Given the description of an element on the screen output the (x, y) to click on. 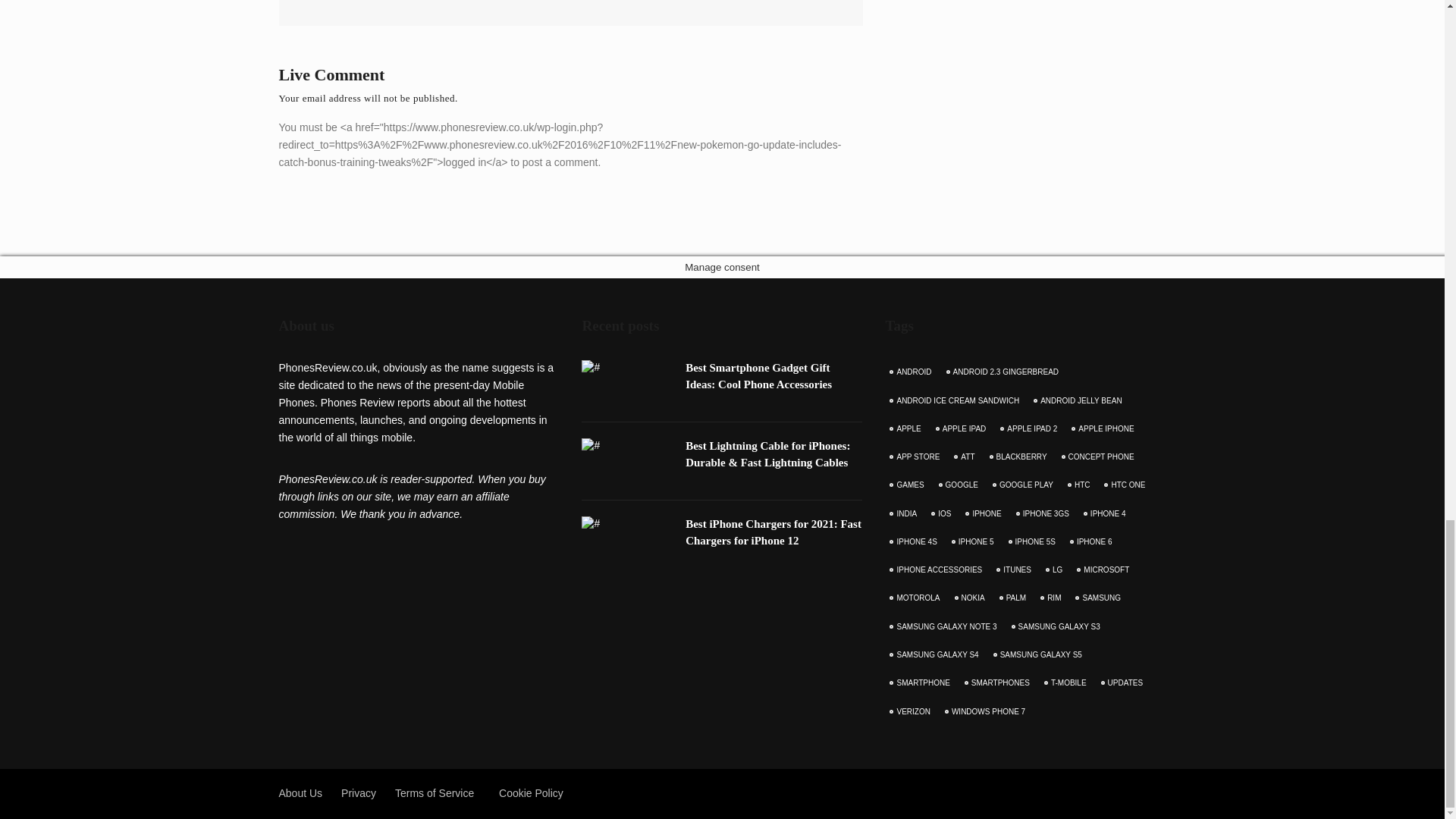
Best Smartphone Gadget Gift Ideas: Cool Phone Accessories (758, 375)
ANDROID 2.3 GINGERBREAD (1003, 371)
Best iPhone Chargers for 2021: Fast Chargers for iPhone 12 (773, 532)
ANDROID (912, 371)
